Given the description of an element on the screen output the (x, y) to click on. 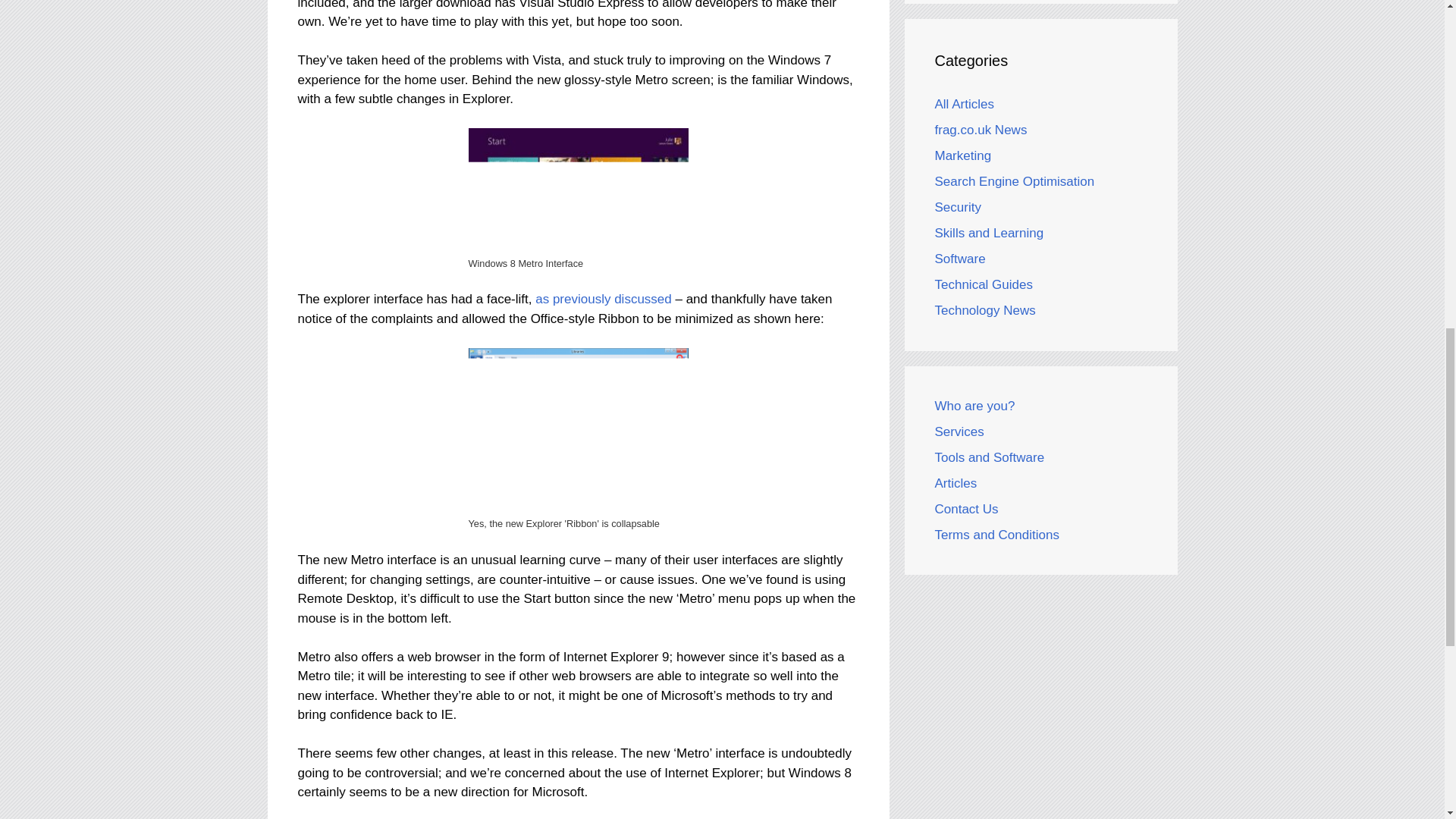
as previously discussed (603, 298)
frag.co.uk - Microsoft to ribbonise Windows 8 file manager (603, 298)
Windows 8 Metro Interface (578, 189)
